Given the description of an element on the screen output the (x, y) to click on. 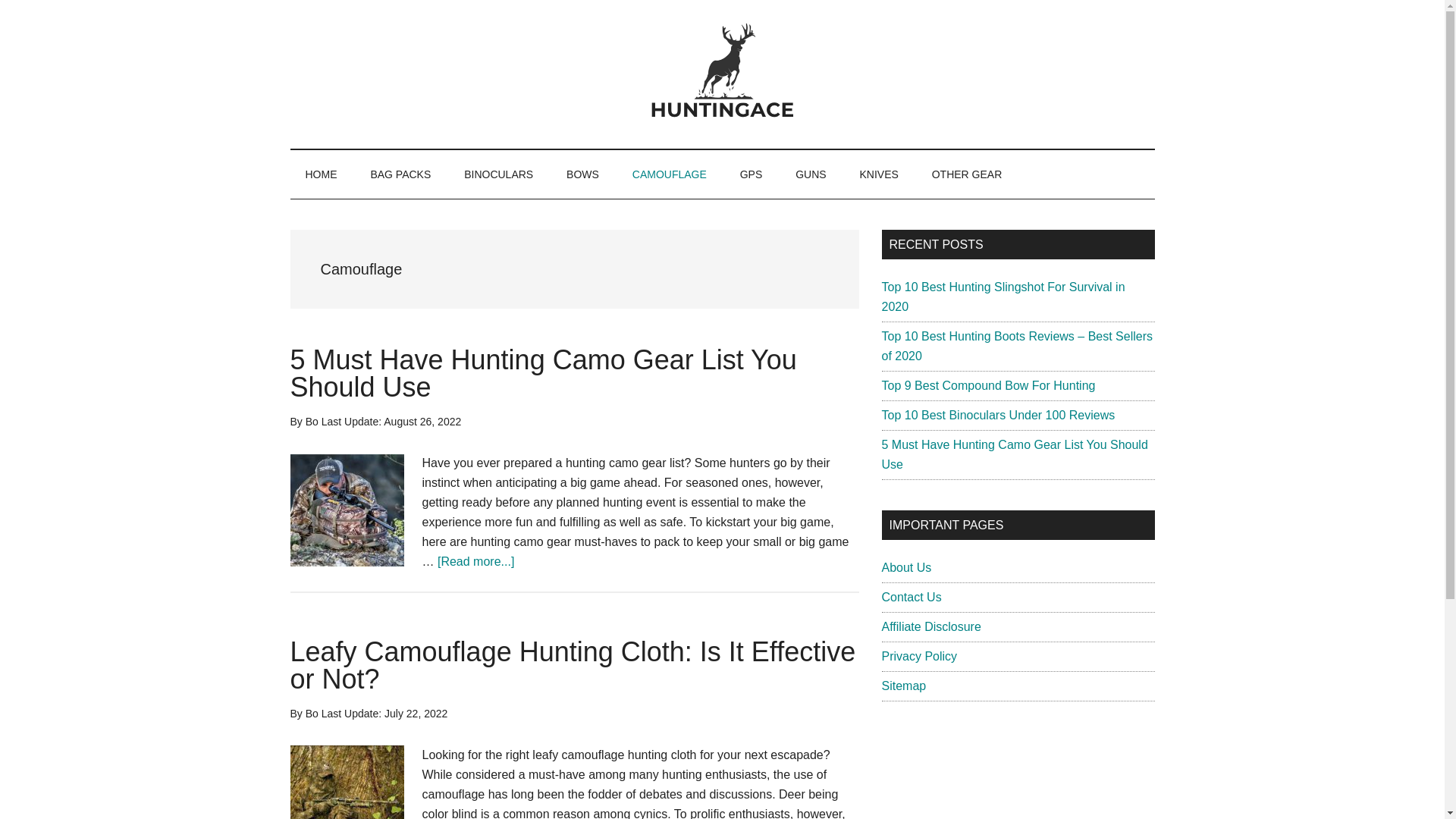
HOME (320, 174)
Contact Us (910, 596)
Privacy Policy (918, 656)
KNIVES (878, 174)
About Us (905, 567)
CAMOUFLAGE (669, 174)
Top 10 Best Binoculars Under 100 Reviews (997, 414)
BINOCULARS (498, 174)
BOWS (582, 174)
Top 9 Best Compound Bow For Hunting (987, 385)
